Given the description of an element on the screen output the (x, y) to click on. 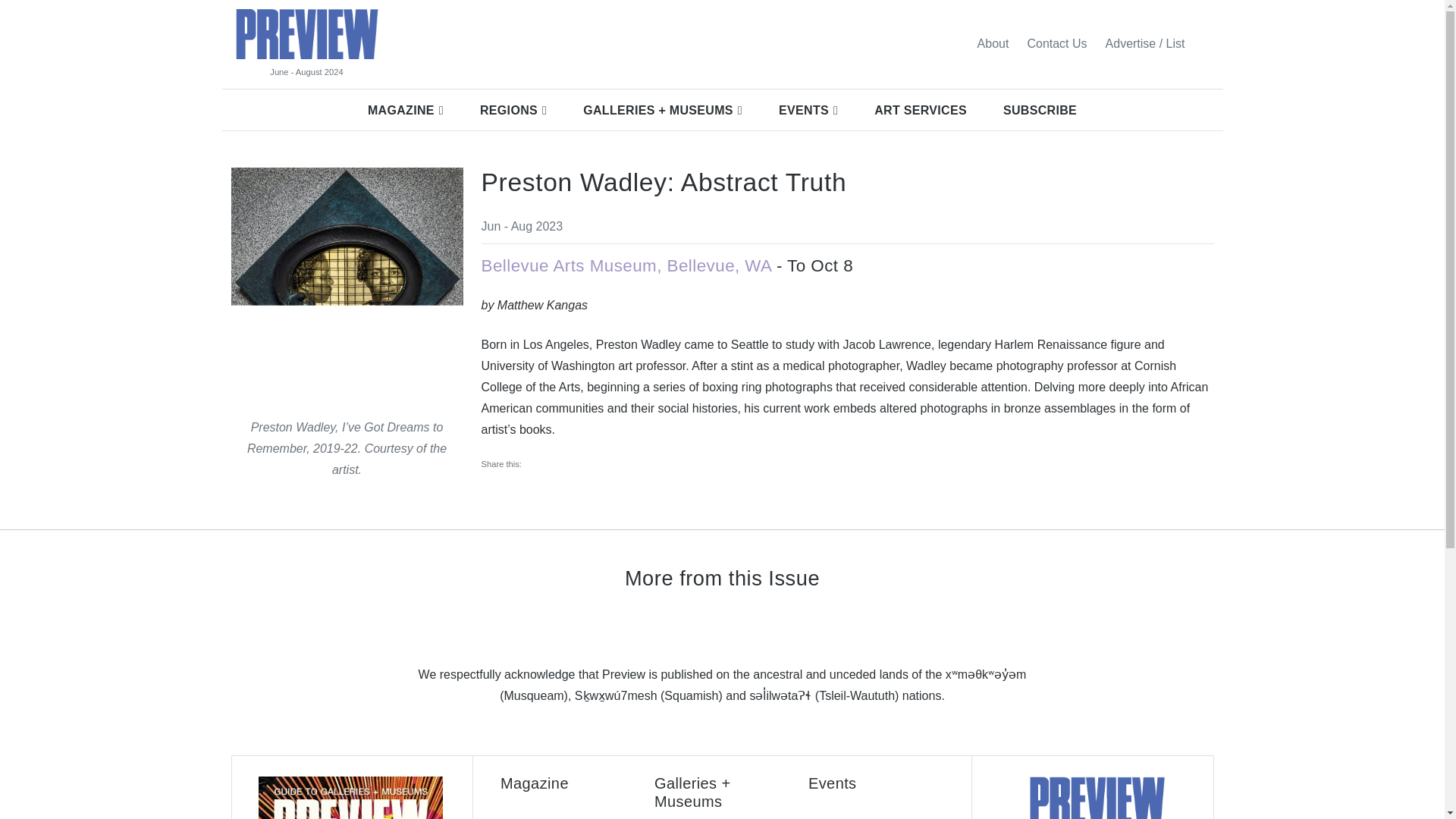
Jun - Aug 2023 (521, 226)
Open Search (1202, 43)
June - August 2024 (305, 71)
SUBSCRIBE (1039, 110)
EVENTS (808, 110)
ART SERVICES (920, 110)
MAGAZINE (405, 110)
REGIONS (512, 110)
About (992, 43)
Contact Us (1056, 43)
